Given the description of an element on the screen output the (x, y) to click on. 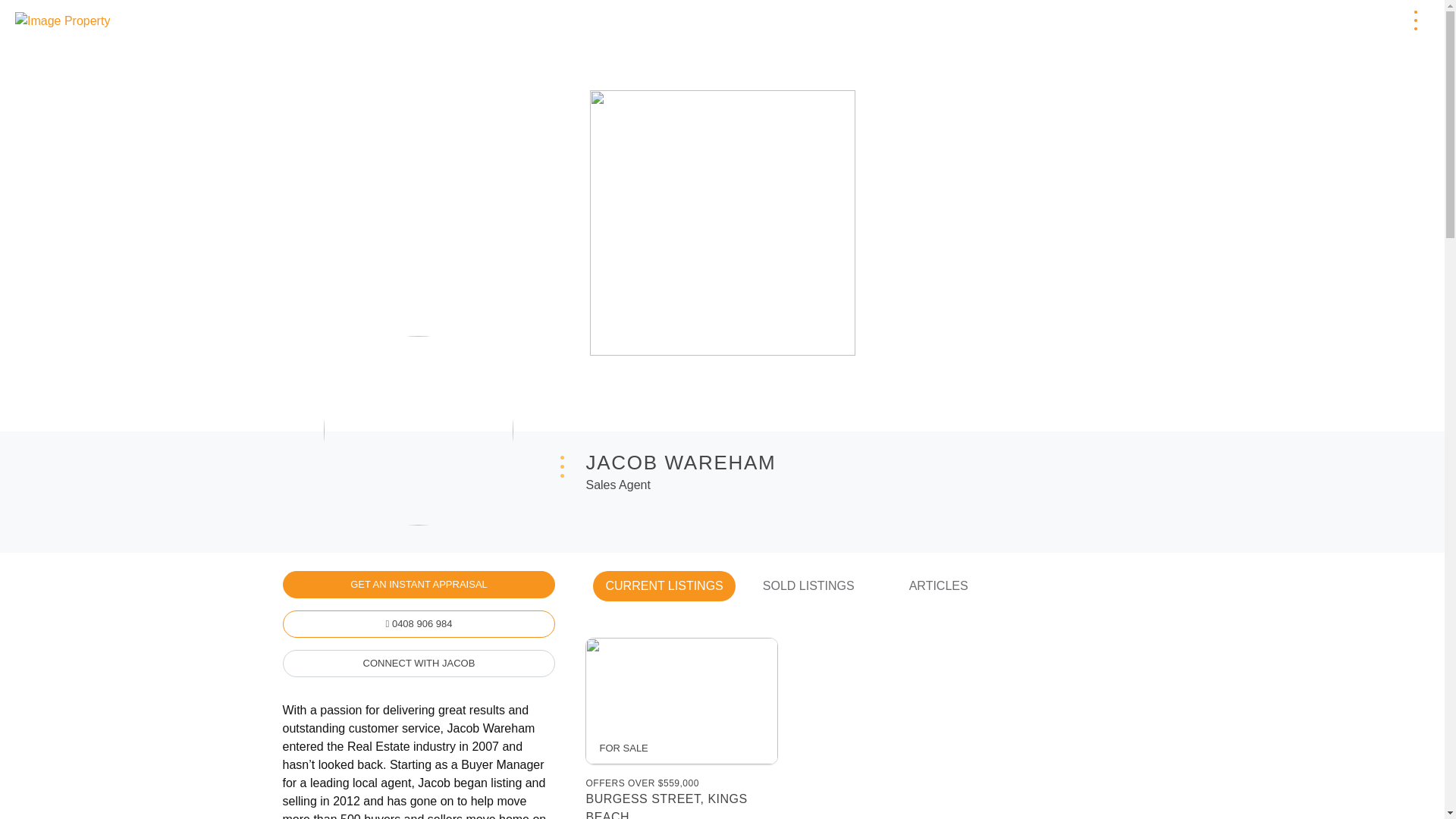
GET IN TOUCH (1334, 20)
CONNECT WITH JACOB (418, 662)
LISTINGS (1116, 20)
SOLD (1254, 20)
Listings (1116, 20)
SOLD LISTINGS (808, 585)
0408 906 984 (418, 623)
Sold (1254, 20)
GET AN INSTANT APPRAISAL (418, 583)
Selling (1190, 20)
SELLING (1190, 20)
CURRENT LISTINGS (663, 585)
Get in Touch (1334, 20)
